Given the description of an element on the screen output the (x, y) to click on. 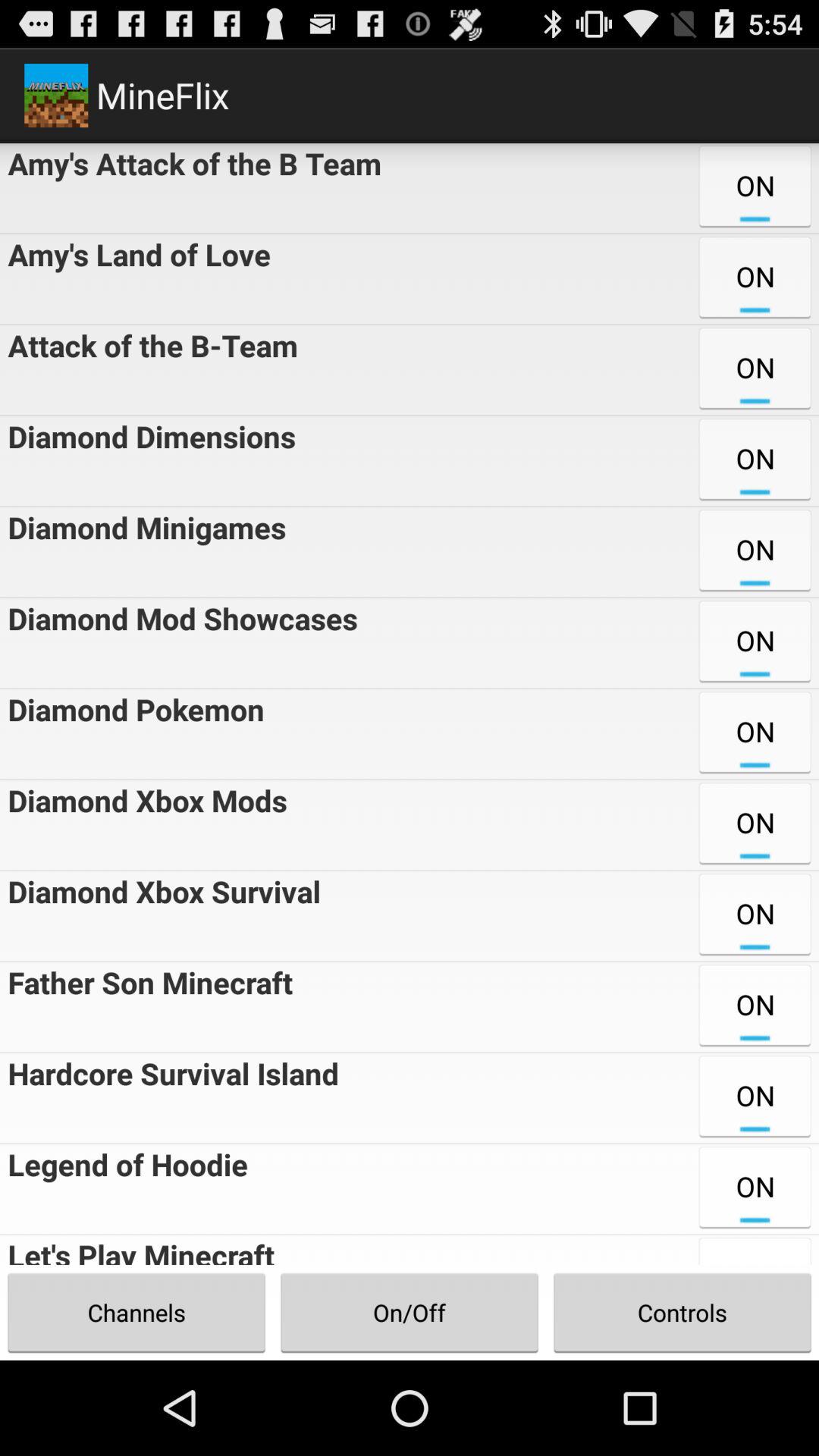
jump until the hardcore survival island (169, 1098)
